Given the description of an element on the screen output the (x, y) to click on. 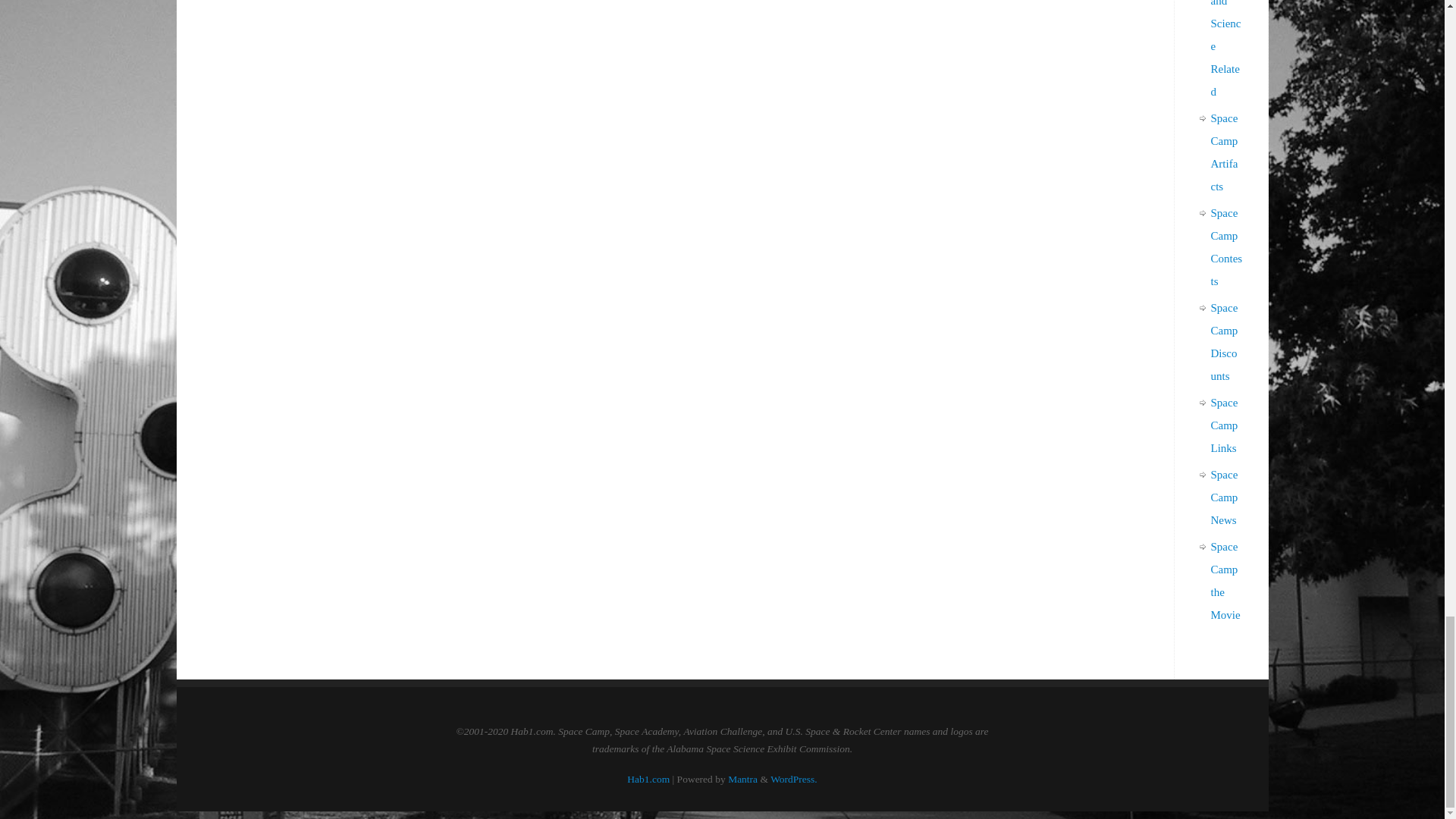
Mantra Theme by Cryout Creations (742, 778)
Hab1.com (648, 778)
